Given the description of an element on the screen output the (x, y) to click on. 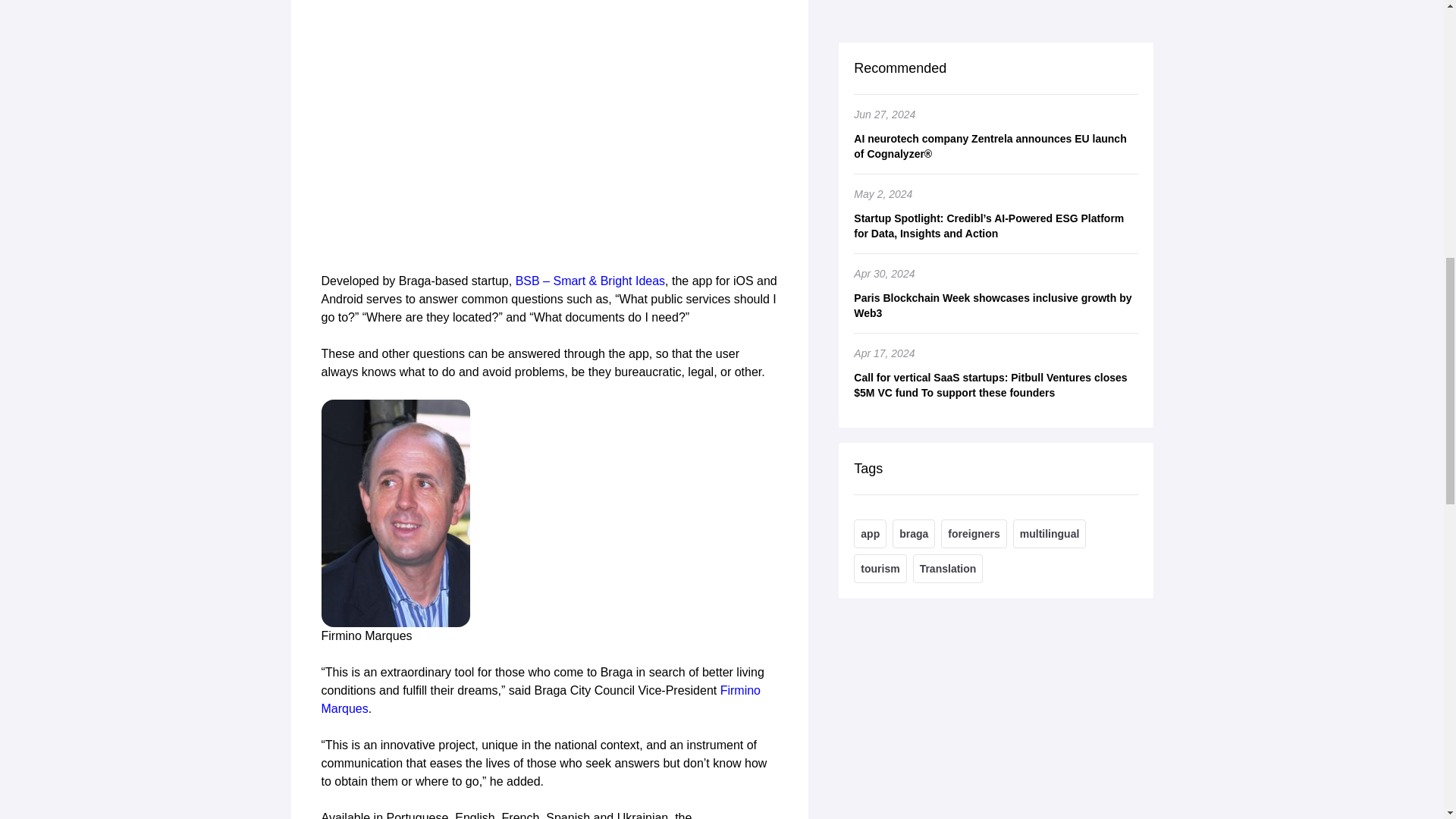
Paris Blockchain Week showcases inclusive growth by Web3 (995, 7)
Firmino Marques (541, 698)
